Given the description of an element on the screen output the (x, y) to click on. 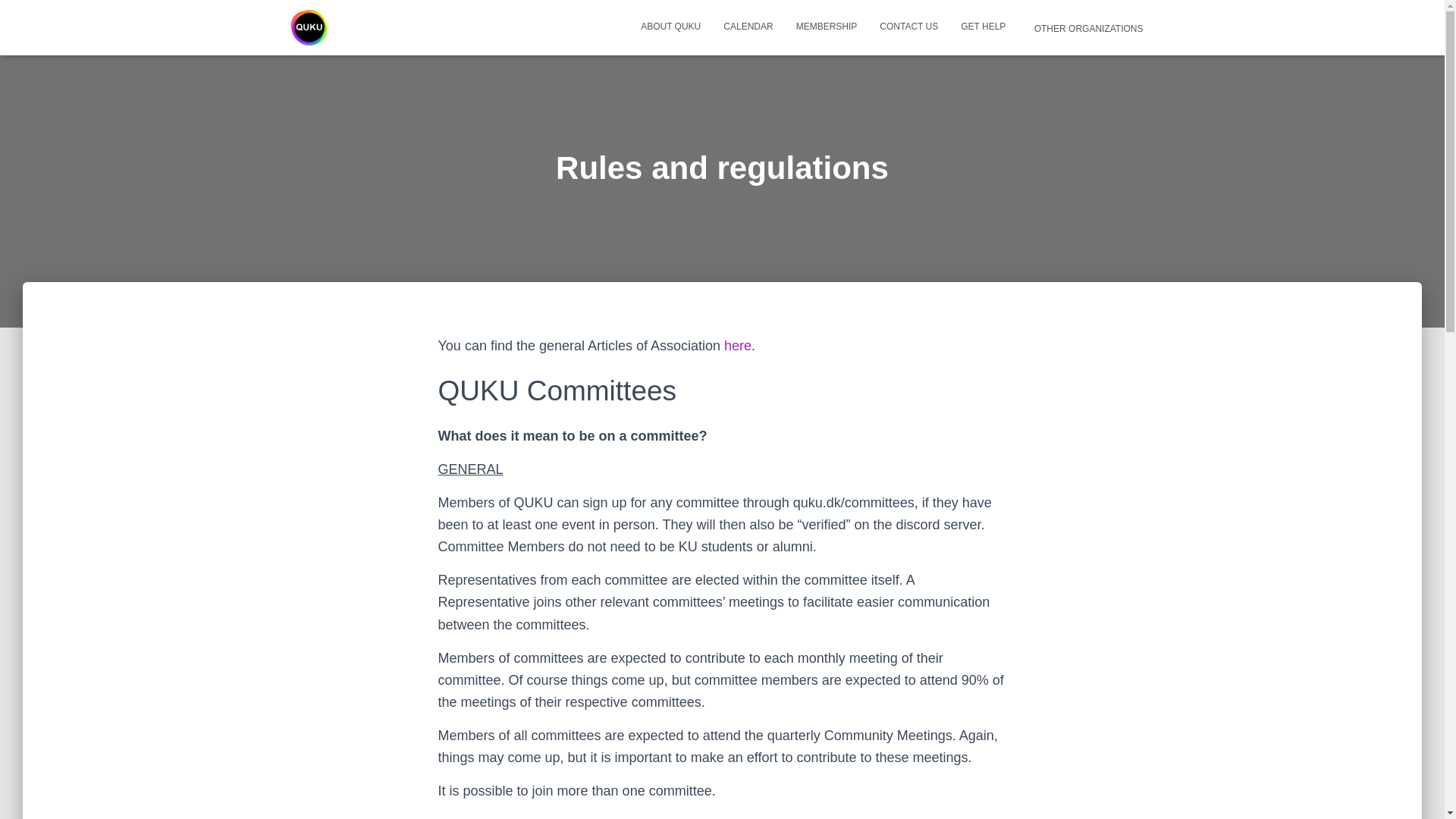
GET HELP (982, 26)
Contact Us (908, 26)
CONTACT US (908, 26)
About Quku (669, 26)
here (737, 345)
CALENDAR (747, 26)
 OTHER ORGANIZATIONS (1085, 27)
Membership (826, 26)
Get help (982, 26)
Articles of Association (737, 345)
